Given the description of an element on the screen output the (x, y) to click on. 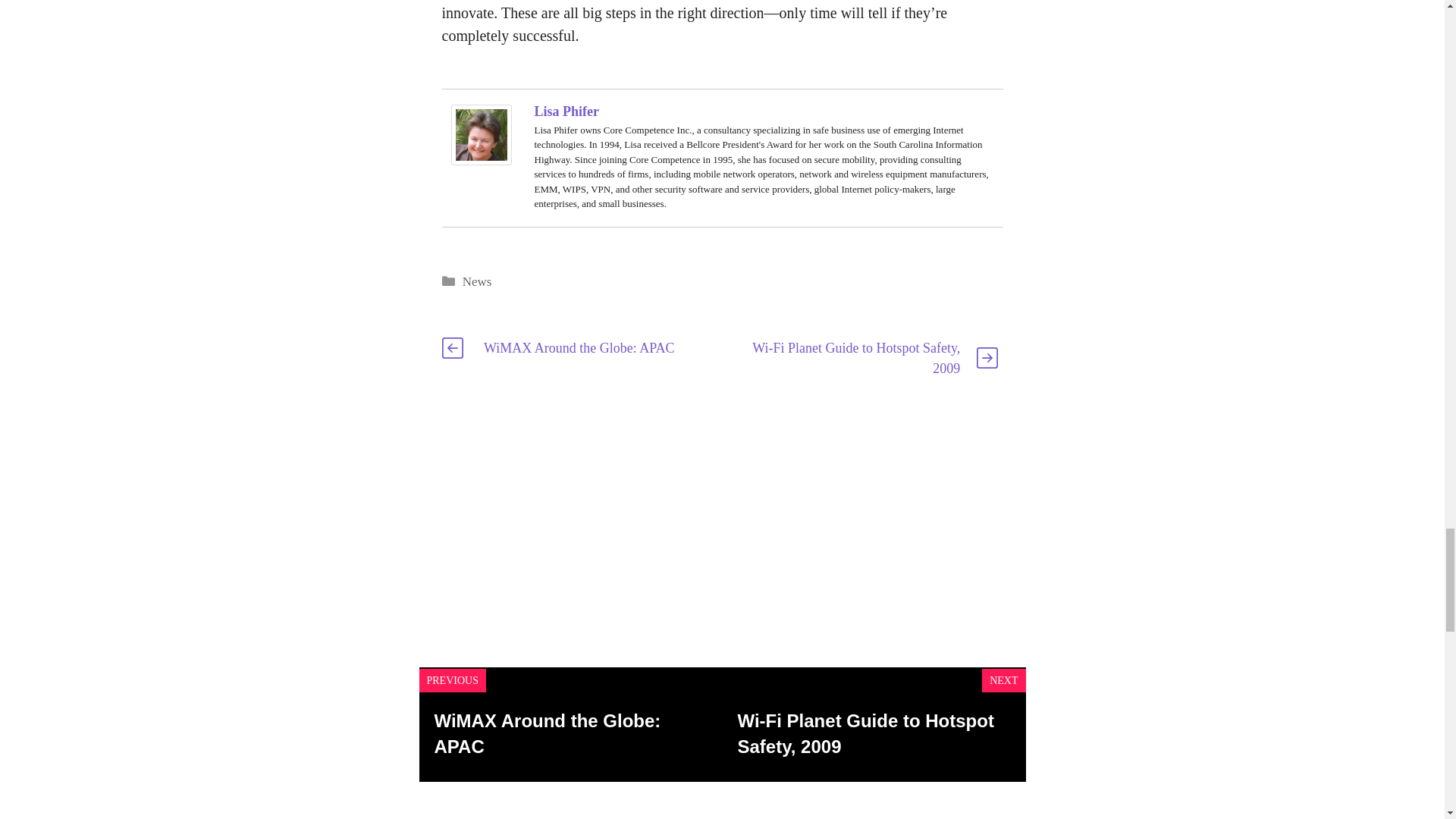
Wi-Fi Planet Guide to Hotspot Safety, 2009 (864, 733)
WiMAX Around the Globe: APAC (579, 347)
Lisa Phifer (566, 111)
Wi-Fi Planet Guide to Hotspot Safety, 2009 (855, 357)
Lisa Phifer (480, 159)
News (477, 281)
WiMAX Around the Globe: APAC (547, 733)
